Given the description of an element on the screen output the (x, y) to click on. 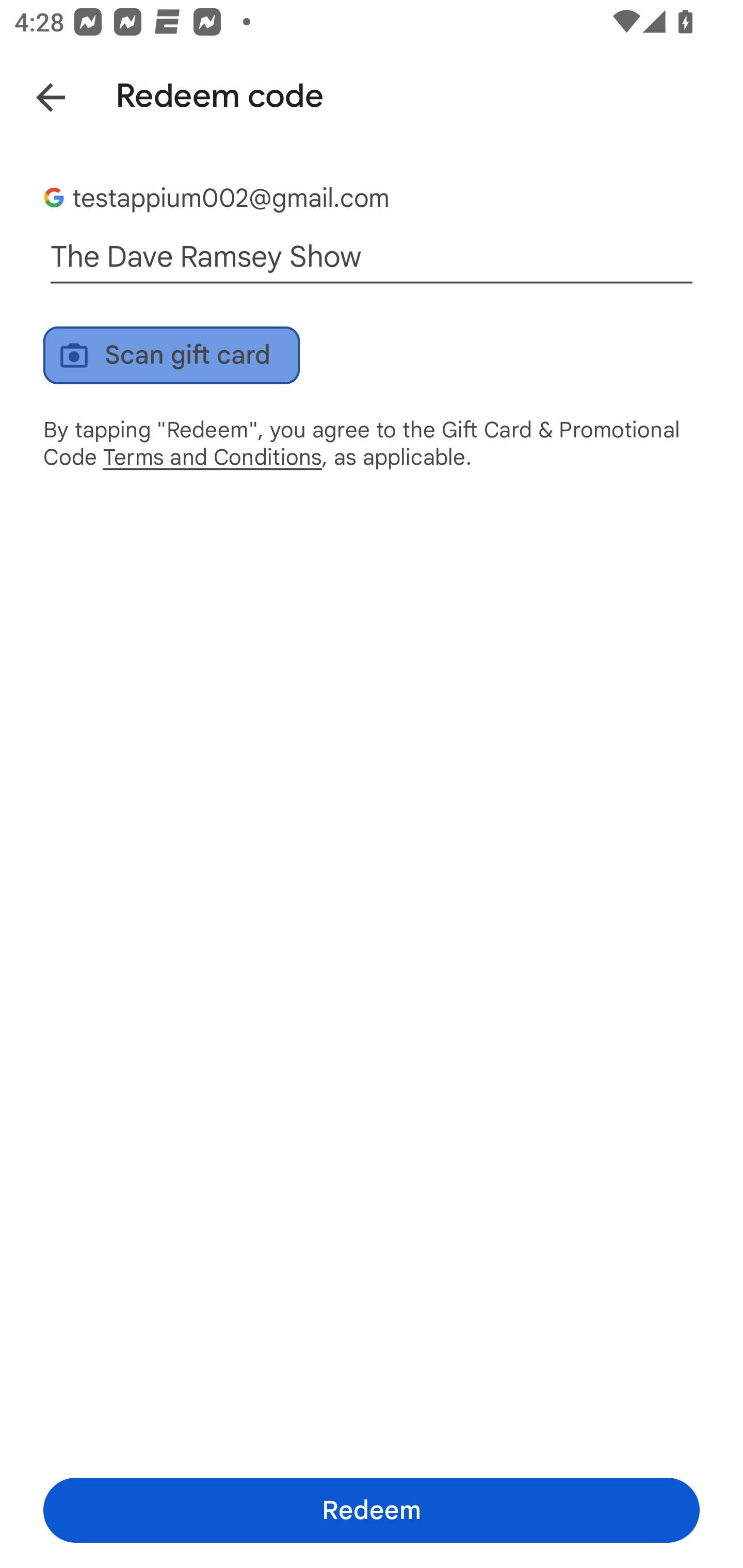
Back (36, 94)
The Dave Ramsey Show (371, 256)
Scan gift card (171, 355)
Redeem (371, 1509)
